Given the description of an element on the screen output the (x, y) to click on. 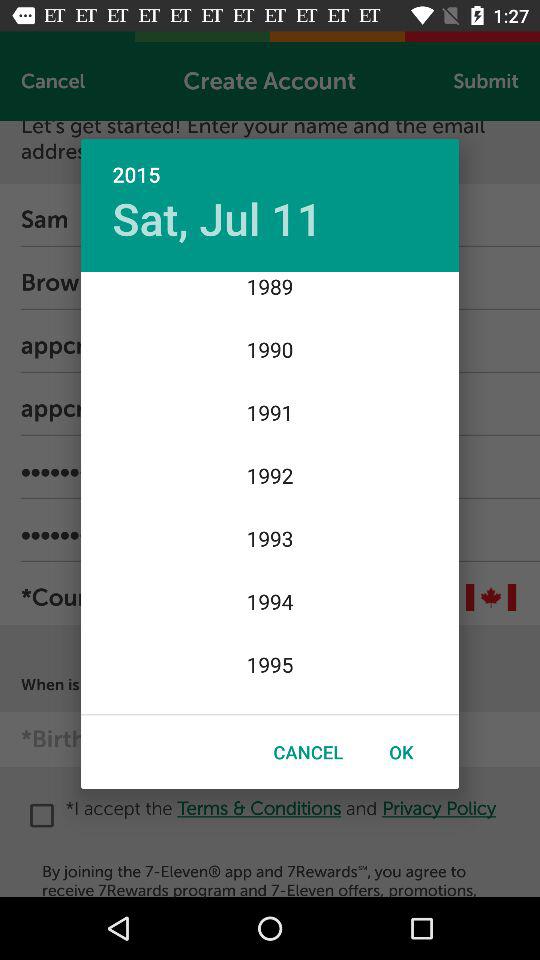
turn off the ok icon (401, 751)
